Given the description of an element on the screen output the (x, y) to click on. 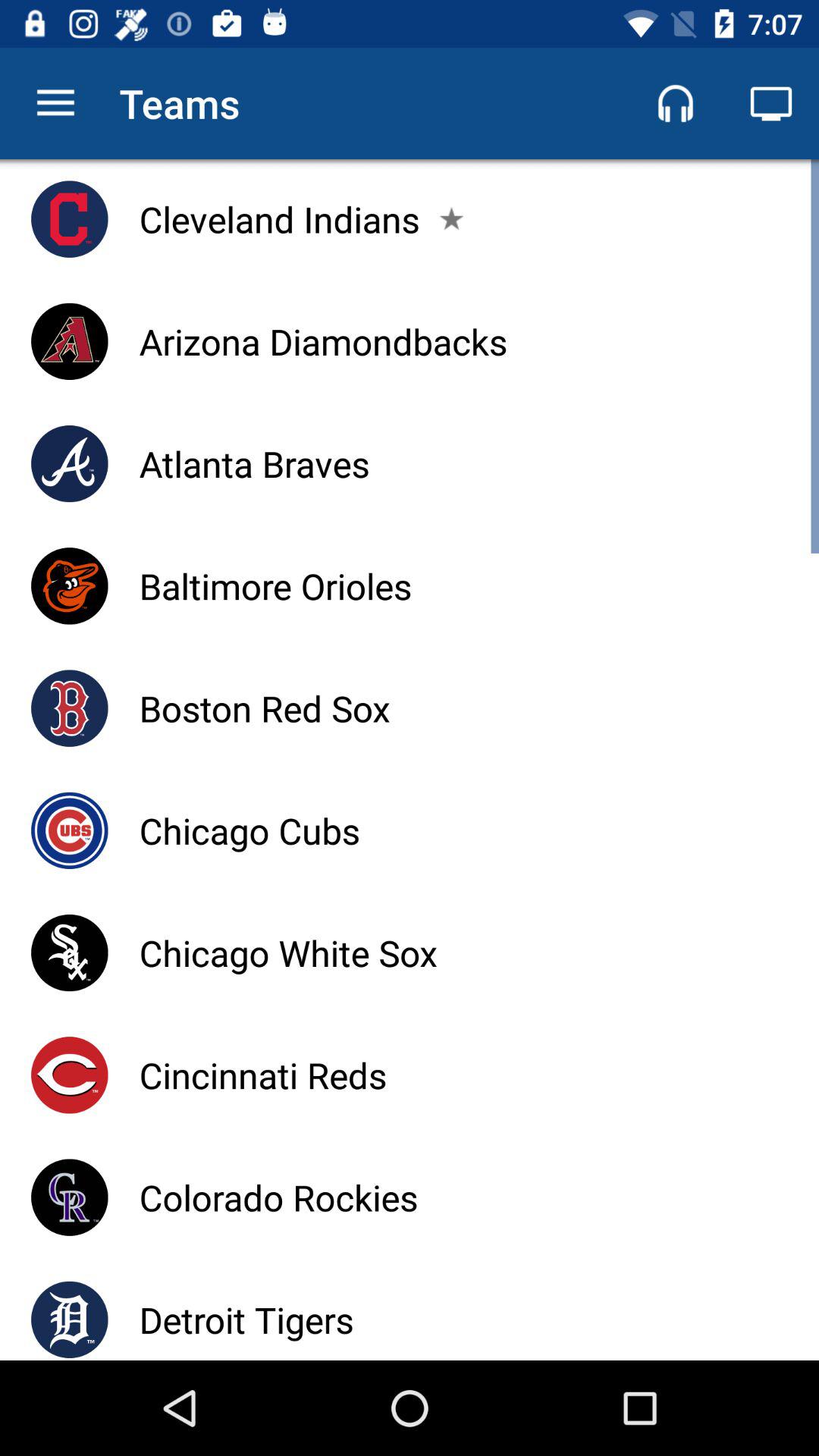
tap icon below the colorado rockies item (246, 1319)
